Given the description of an element on the screen output the (x, y) to click on. 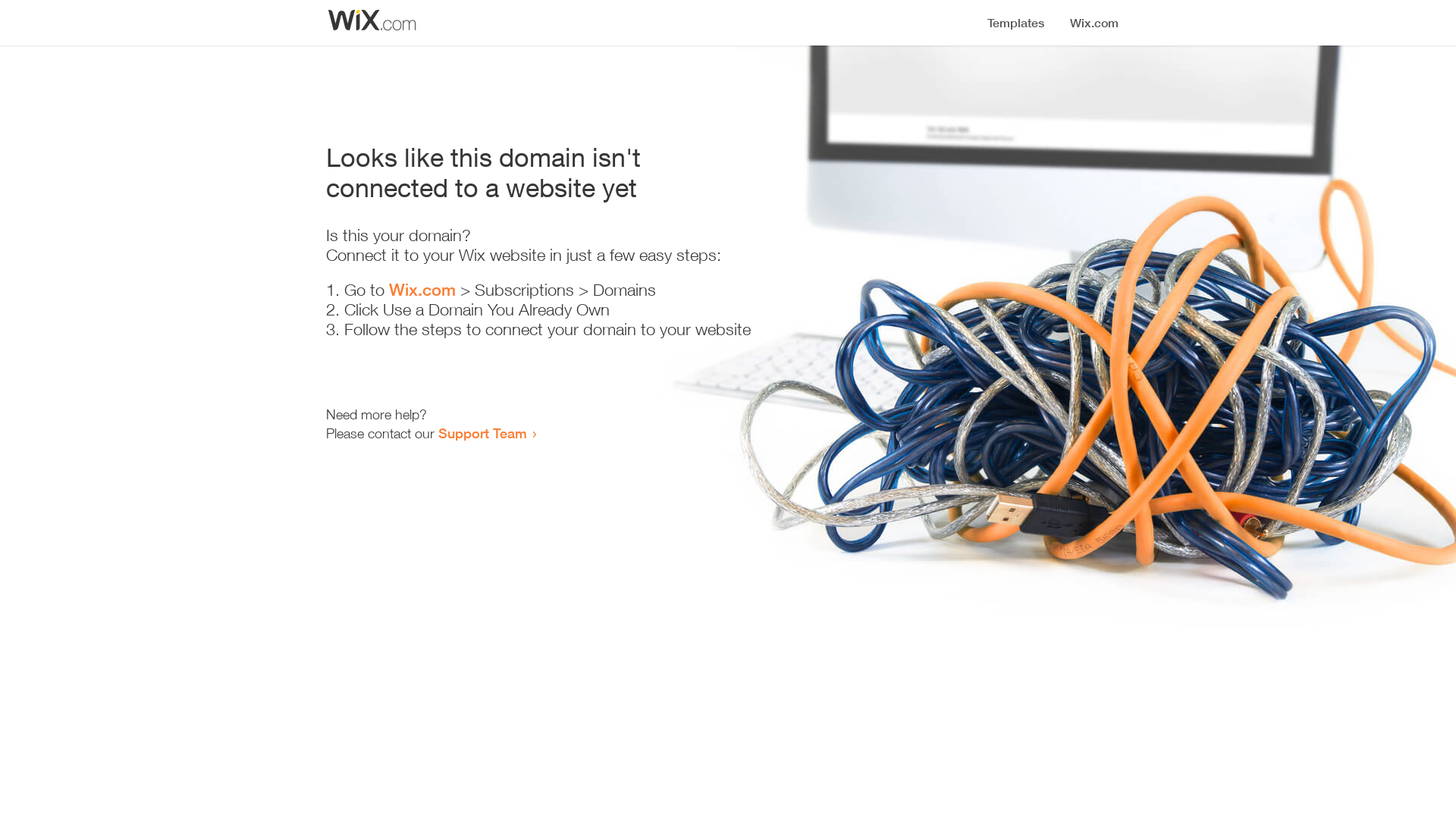
Support Team Element type: text (482, 432)
Wix.com Element type: text (422, 289)
